Given the description of an element on the screen output the (x, y) to click on. 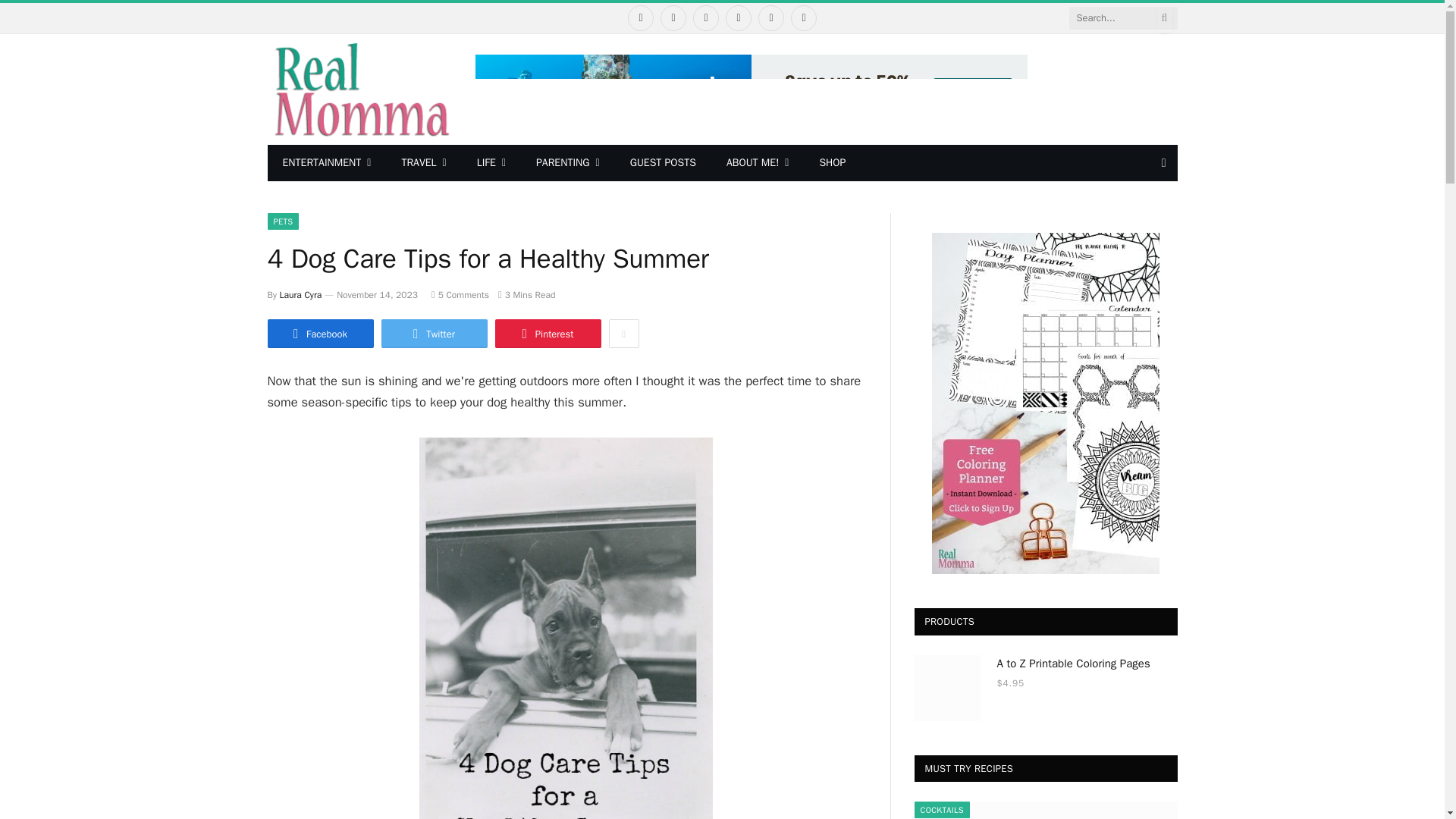
TRAVEL (423, 162)
RSS (803, 17)
Instagram (706, 17)
ENTERTAINMENT (325, 162)
YouTube (771, 17)
Real Momma (358, 89)
Facebook (640, 17)
Pinterest (738, 17)
